Given the description of an element on the screen output the (x, y) to click on. 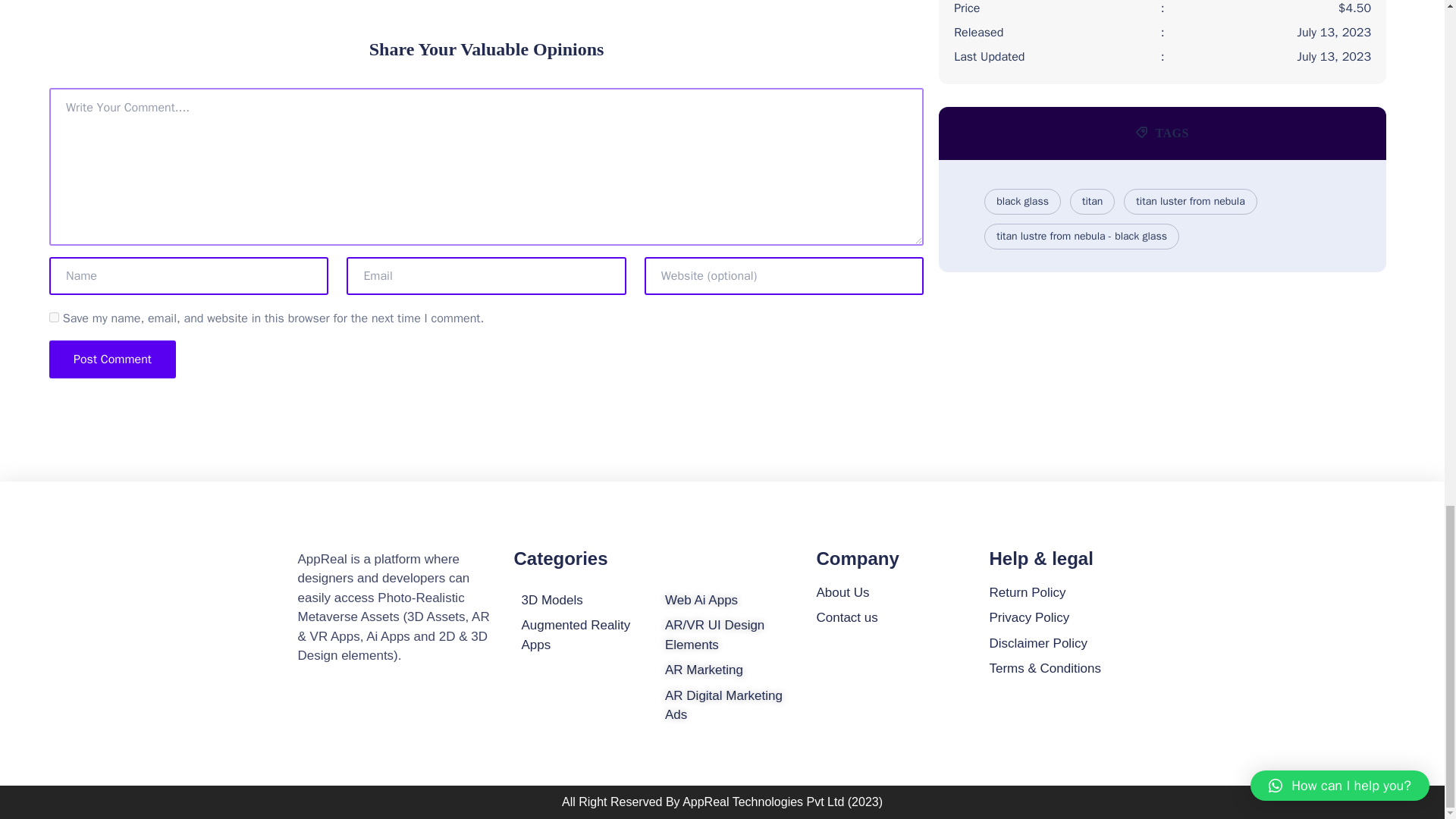
yes (54, 317)
Post Comment (112, 359)
